Given the description of an element on the screen output the (x, y) to click on. 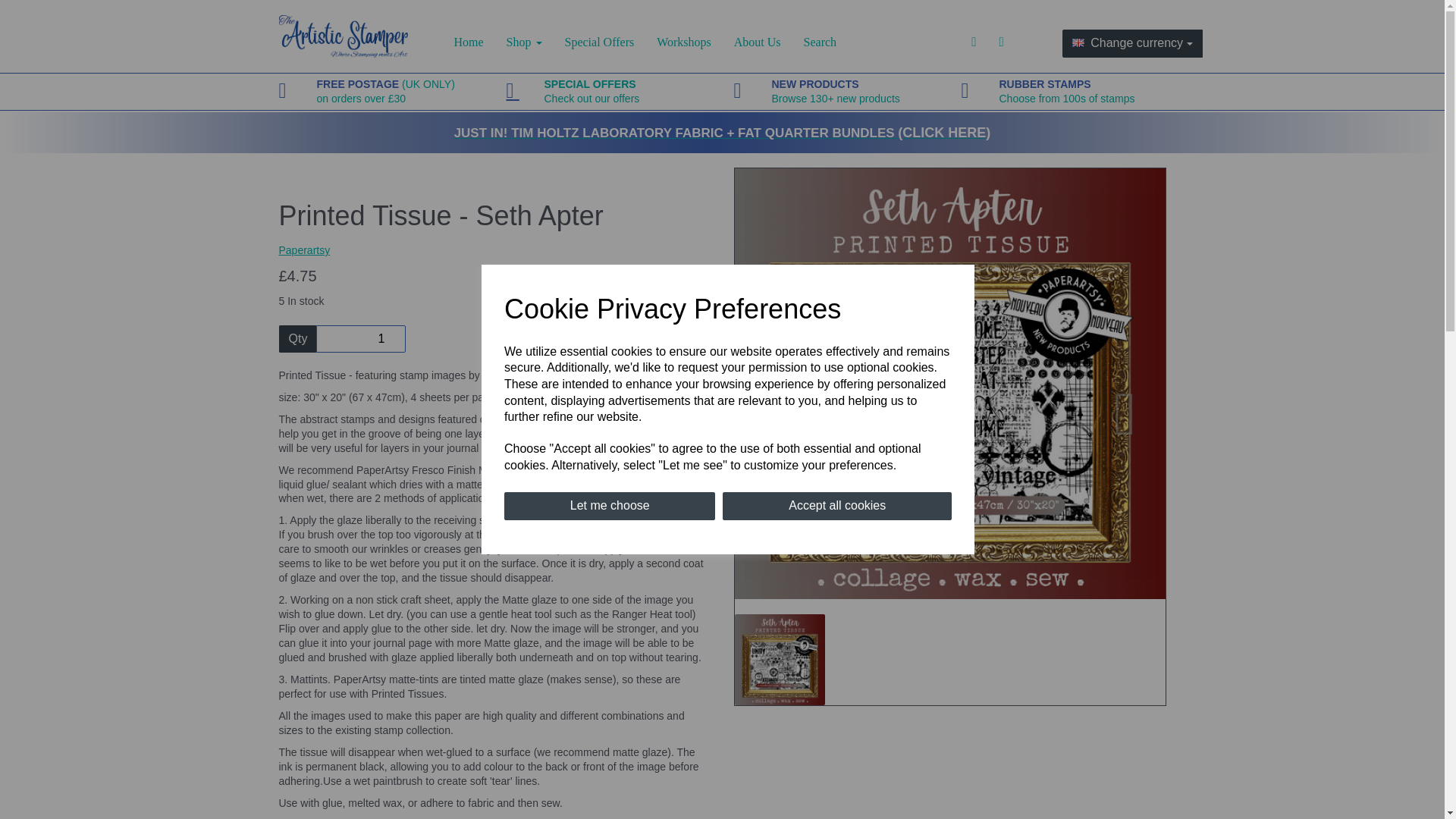
Workshops (683, 42)
About Us (757, 42)
Let me choose (592, 90)
Accept all cookies (608, 506)
1 (837, 506)
Home (360, 338)
Shop (468, 42)
Search (1066, 90)
Special Offers (524, 42)
